Given the description of an element on the screen output the (x, y) to click on. 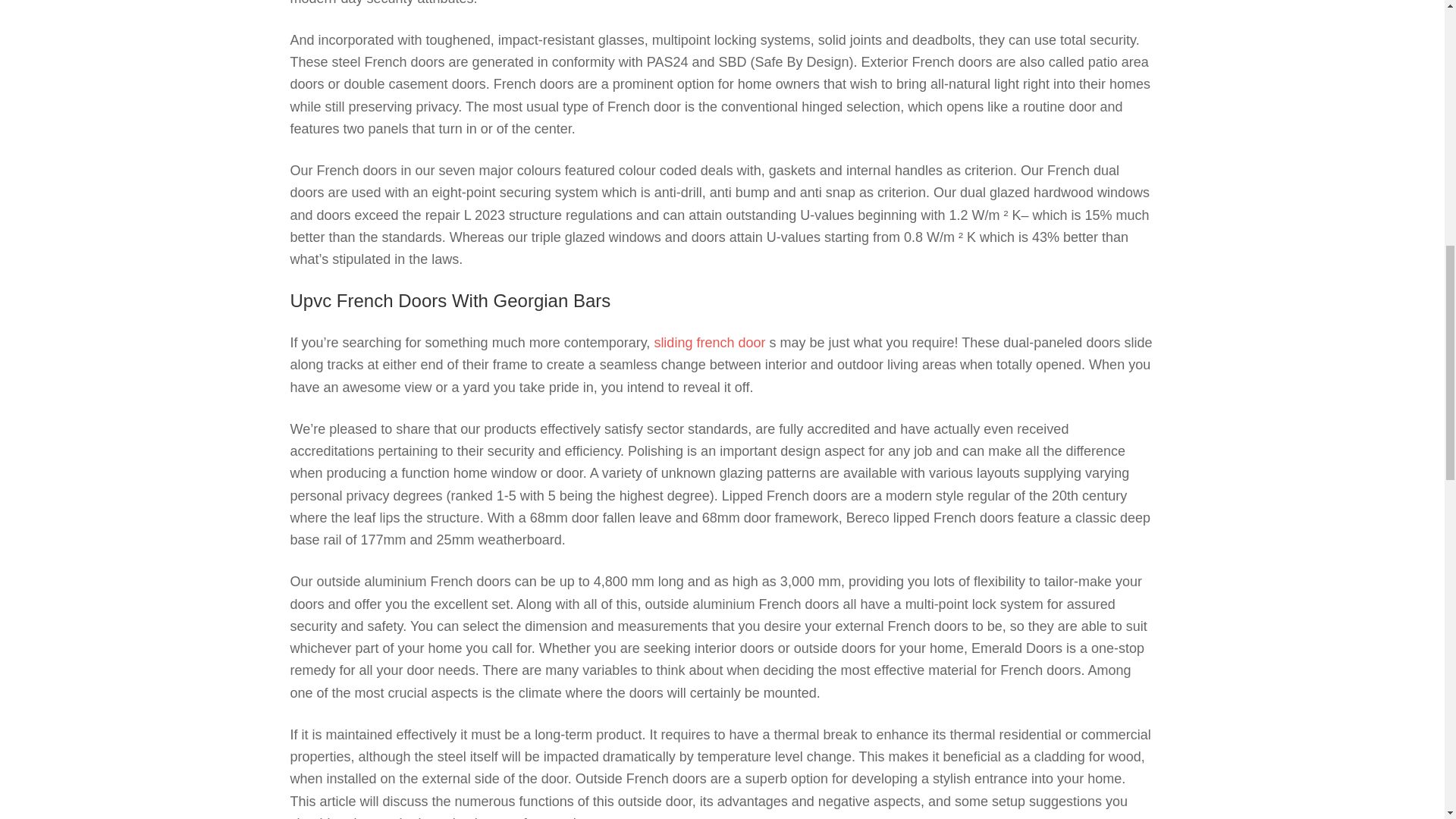
sliding french door (709, 342)
